Given the description of an element on the screen output the (x, y) to click on. 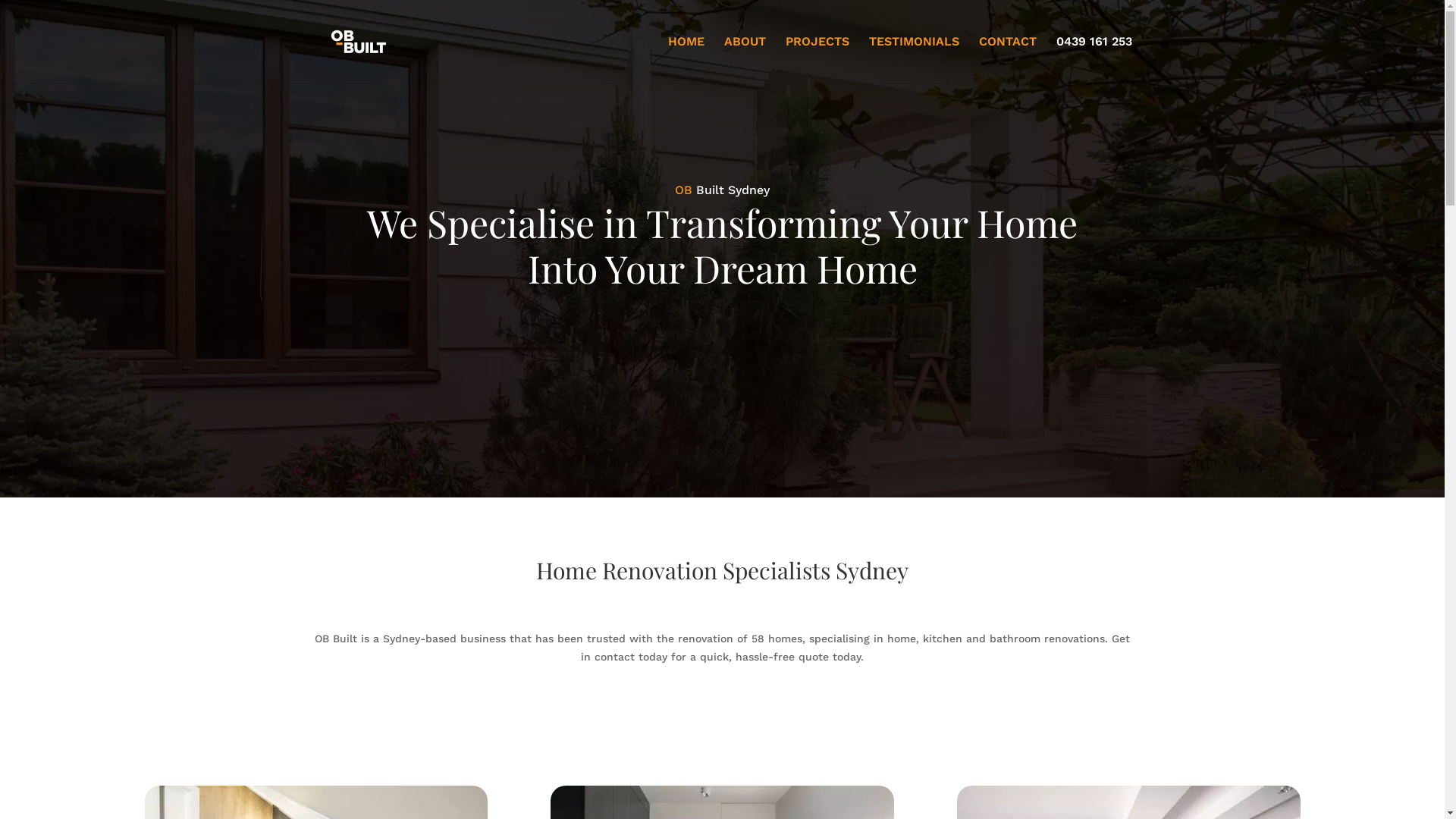
HOME Element type: text (685, 59)
TESTIMONIALS Element type: text (914, 59)
PROJECTS Element type: text (817, 59)
0439 161 253 Element type: text (1093, 59)
CONTACT Element type: text (1006, 59)
ABOUT Element type: text (744, 59)
